Given the description of an element on the screen output the (x, y) to click on. 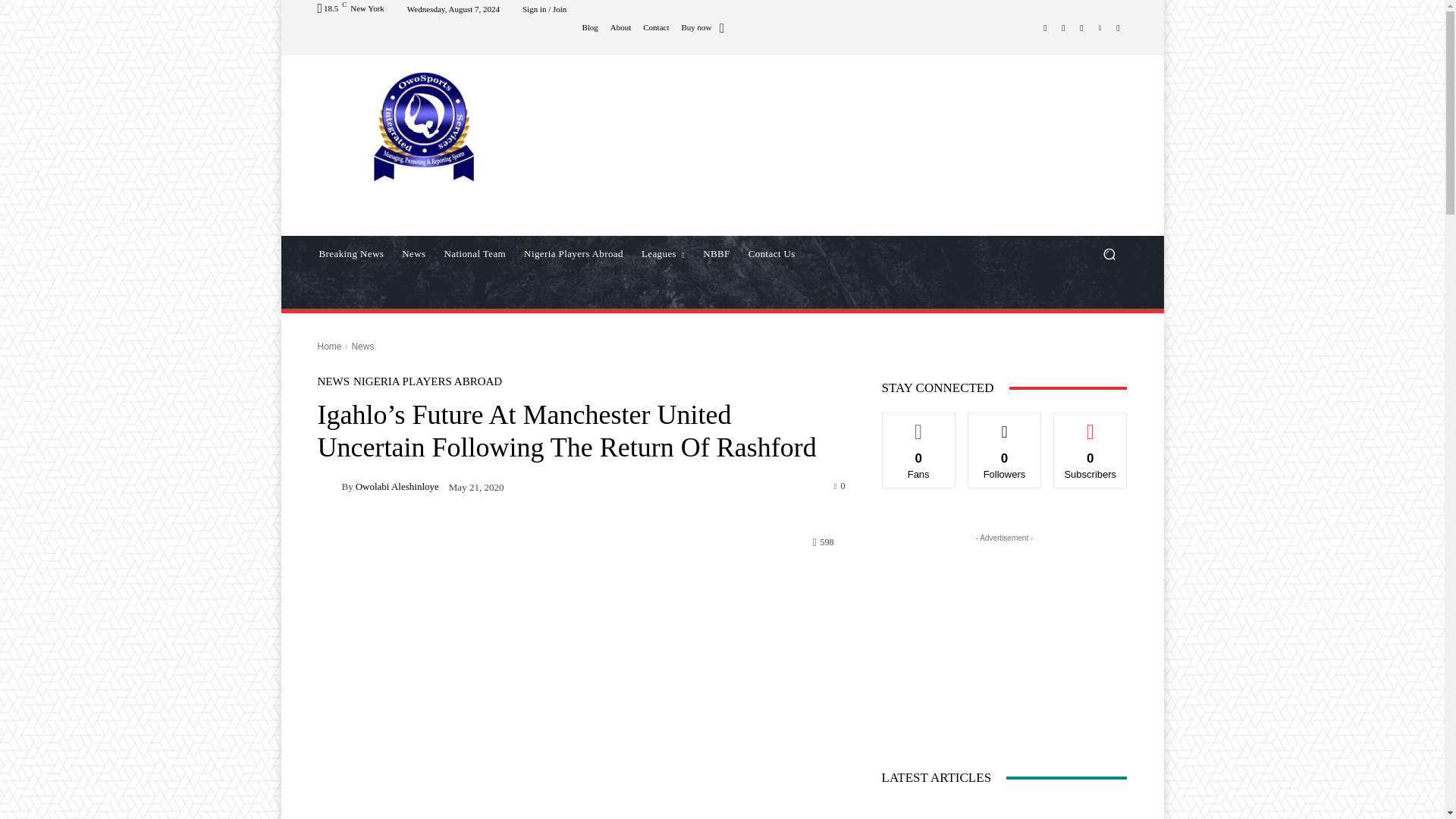
News (413, 253)
National Team (474, 253)
Leagues (662, 253)
NBBF (716, 253)
Twitter (1080, 27)
Youtube (1117, 27)
Instagram (1062, 27)
Breaking News (350, 253)
Facebook (1044, 27)
Blog (588, 27)
Contact Us (772, 253)
Vimeo (1099, 27)
Contact (655, 27)
About (620, 27)
Nigeria Players Abroad (573, 253)
